Given the description of an element on the screen output the (x, y) to click on. 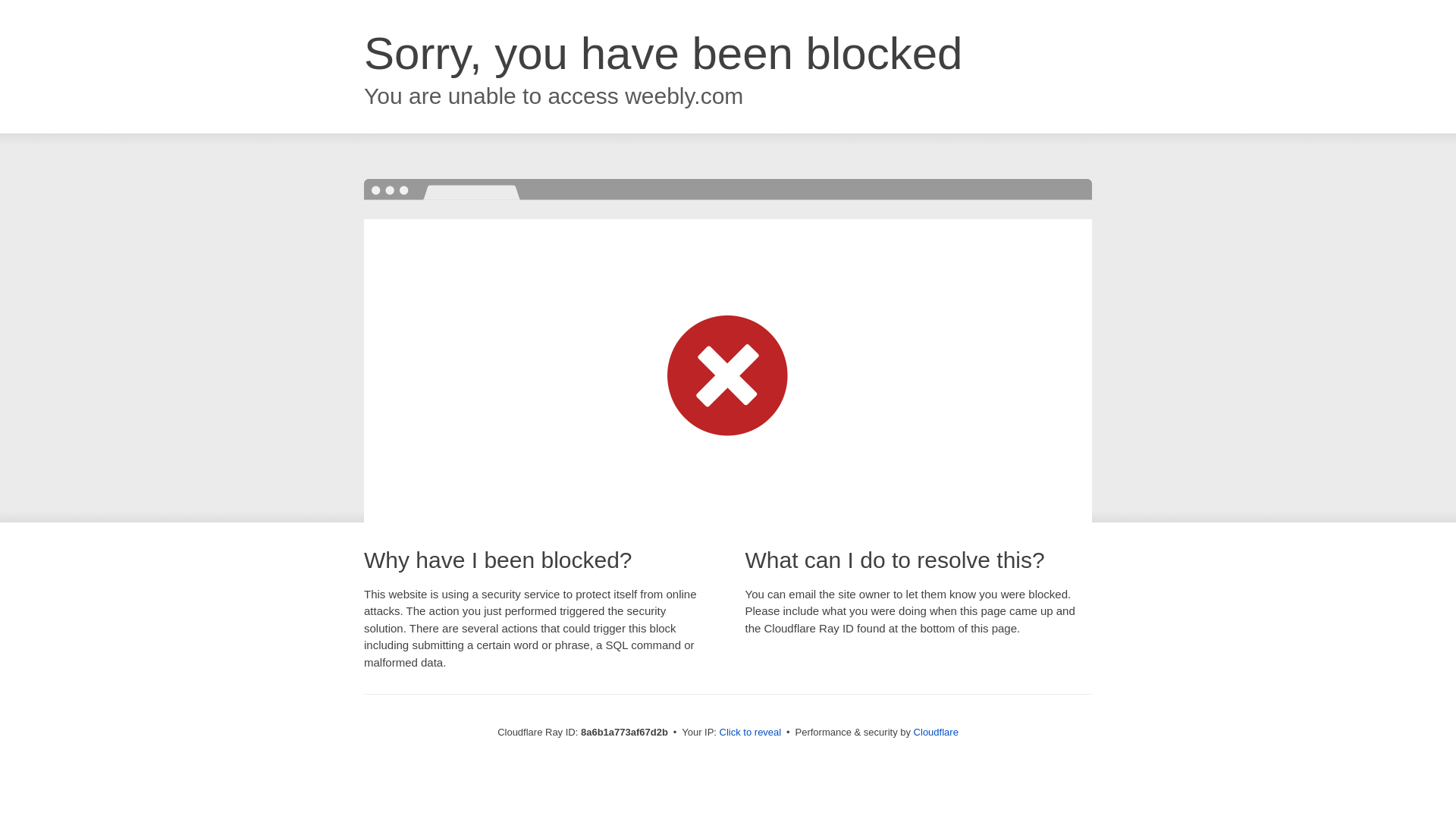
Cloudflare (936, 731)
Click to reveal (750, 732)
